Given the description of an element on the screen output the (x, y) to click on. 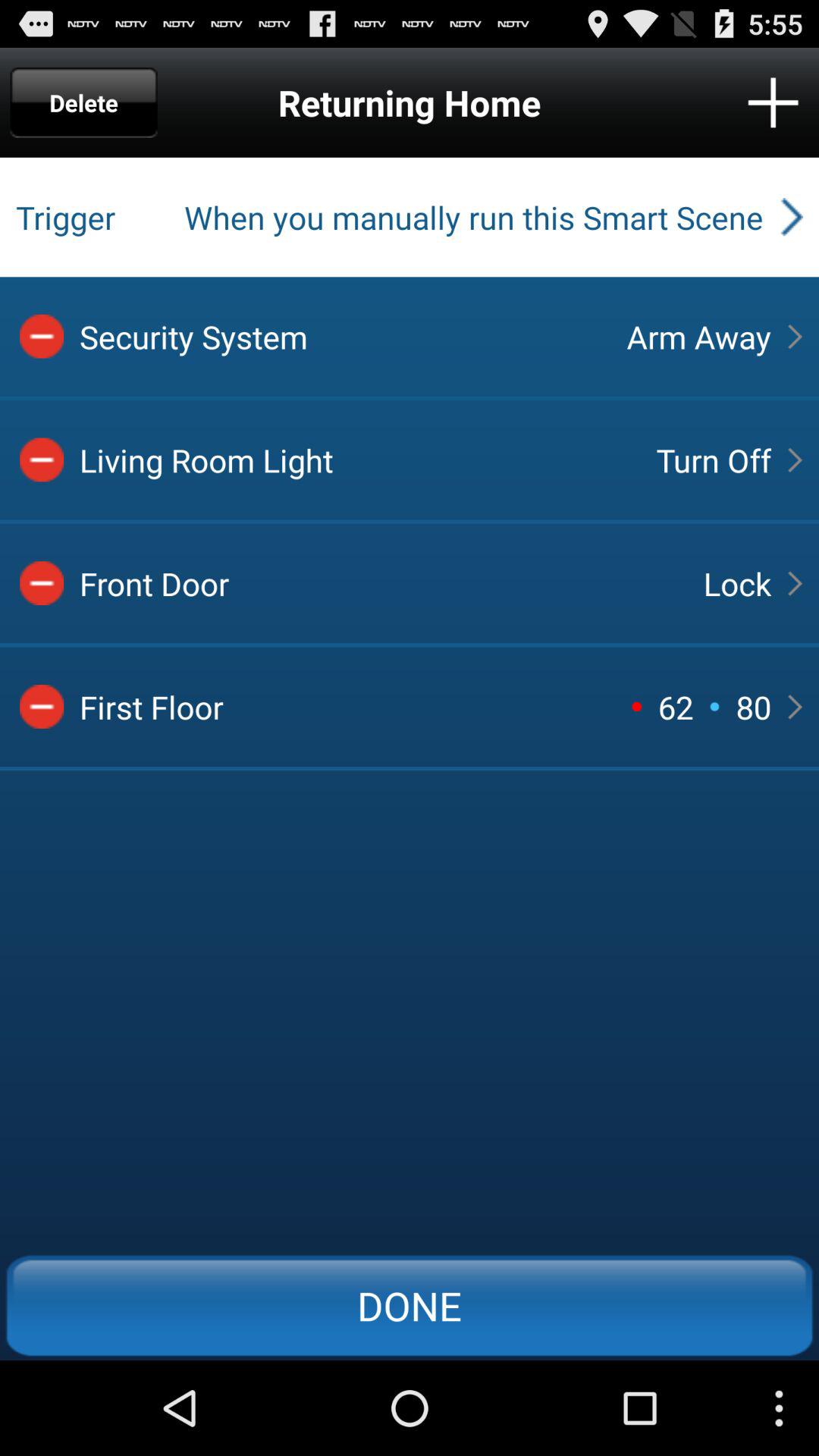
remove line (41, 336)
